Given the description of an element on the screen output the (x, y) to click on. 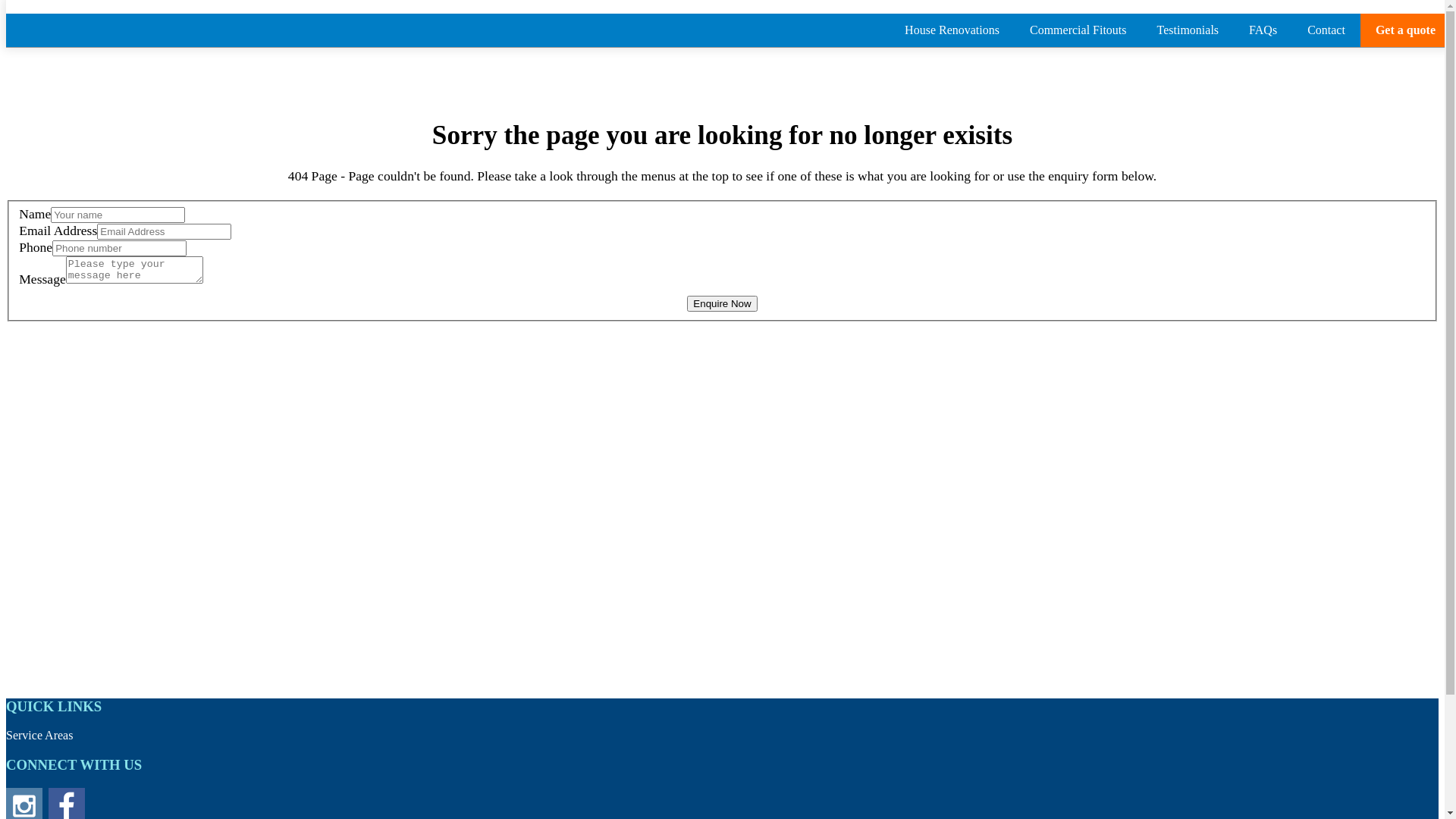
House Renovations Element type: text (951, 30)
Commercial Fitouts Element type: text (1078, 30)
Testimonials Element type: text (1188, 30)
FAQs Element type: text (1262, 30)
Contact Element type: text (1326, 30)
Get a quote Element type: text (1405, 30)
Enquire Now Element type: text (721, 303)
Service Areas Element type: text (39, 735)
